Given the description of an element on the screen output the (x, y) to click on. 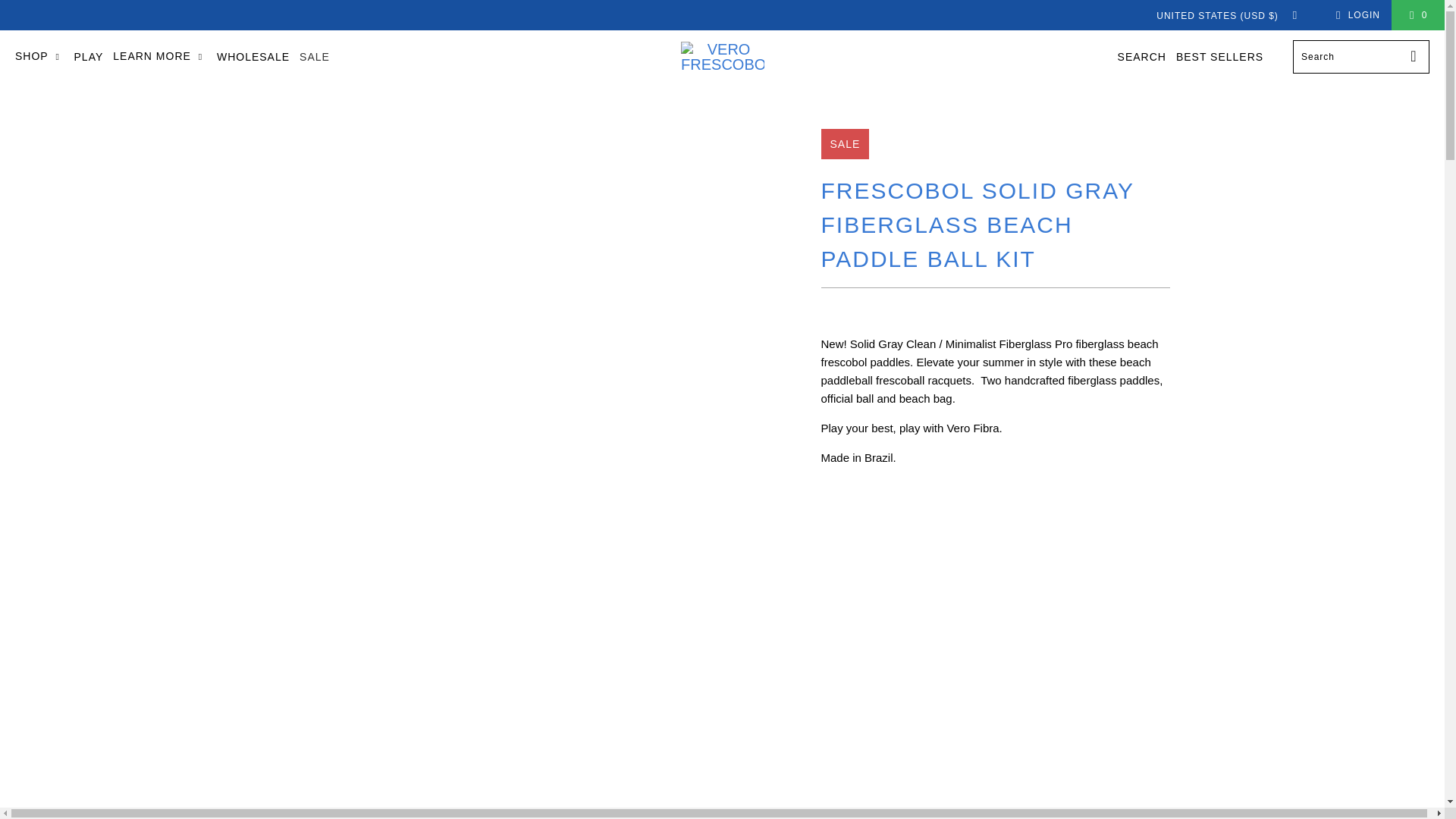
My Account  (1355, 14)
Vero Frescobol (722, 56)
